Given the description of an element on the screen output the (x, y) to click on. 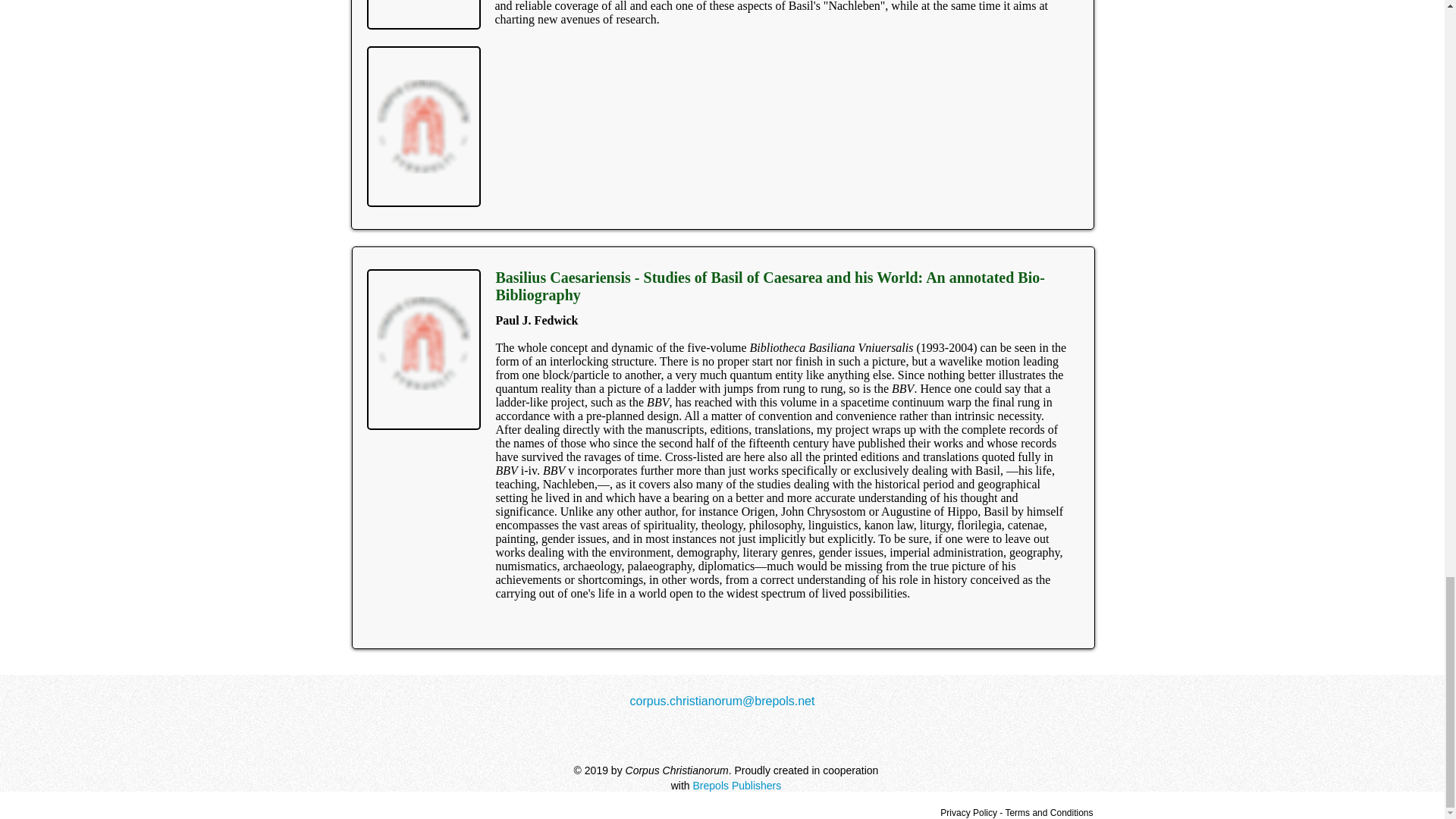
Terms and Conditions (1048, 812)
Brepols Publishers (737, 785)
Privacy Policy (968, 812)
